Given the description of an element on the screen output the (x, y) to click on. 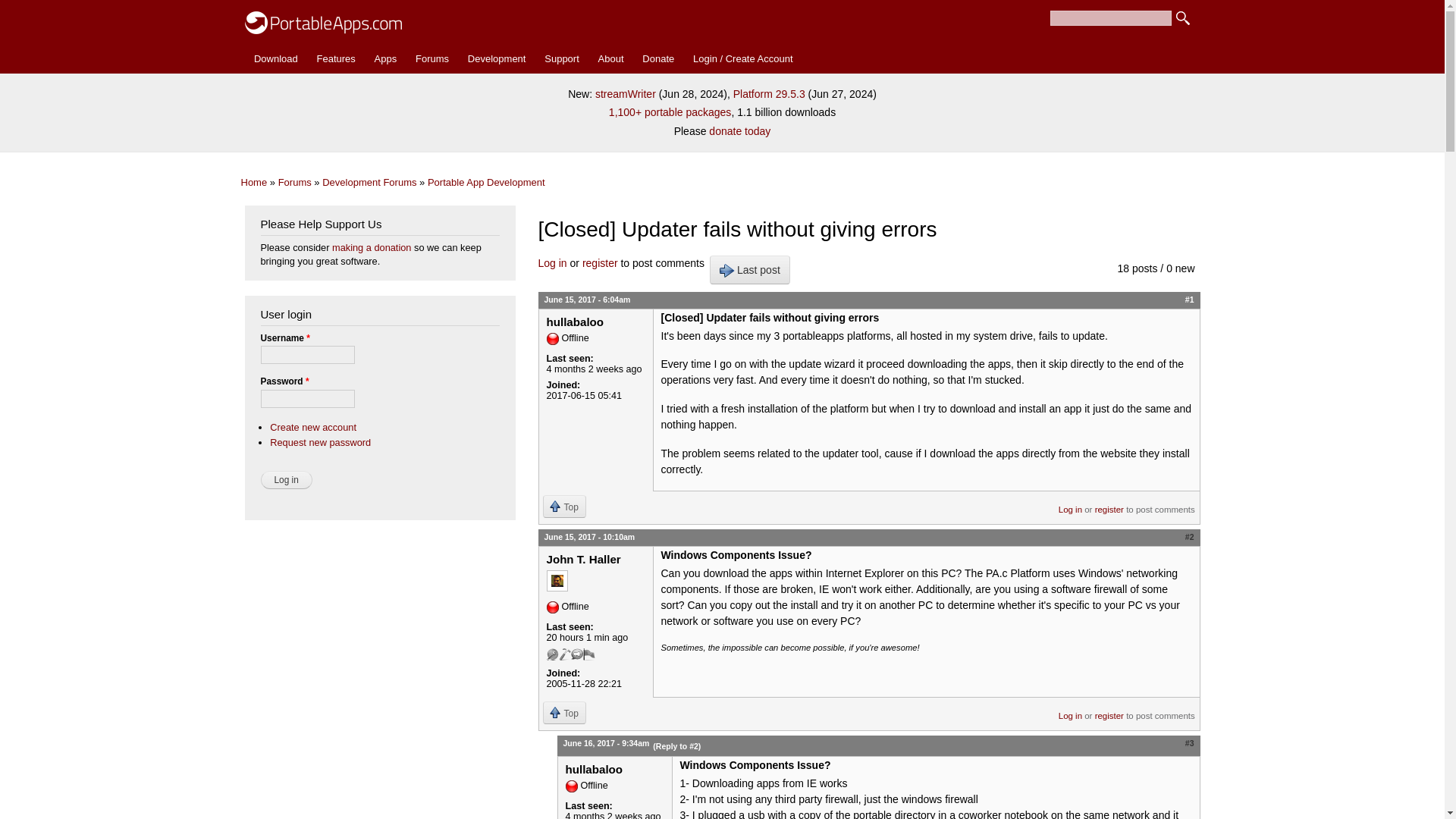
Support (561, 59)
Top (564, 506)
About (610, 59)
Home (322, 19)
Development (496, 59)
streamWriter (625, 93)
Skip to main content (690, 1)
Home (254, 182)
Development Forums (368, 182)
Enter the terms you wish to search for. (1109, 17)
Download (275, 59)
Translator (588, 654)
Features (335, 59)
Search (1182, 17)
Developer (563, 654)
